Given the description of an element on the screen output the (x, y) to click on. 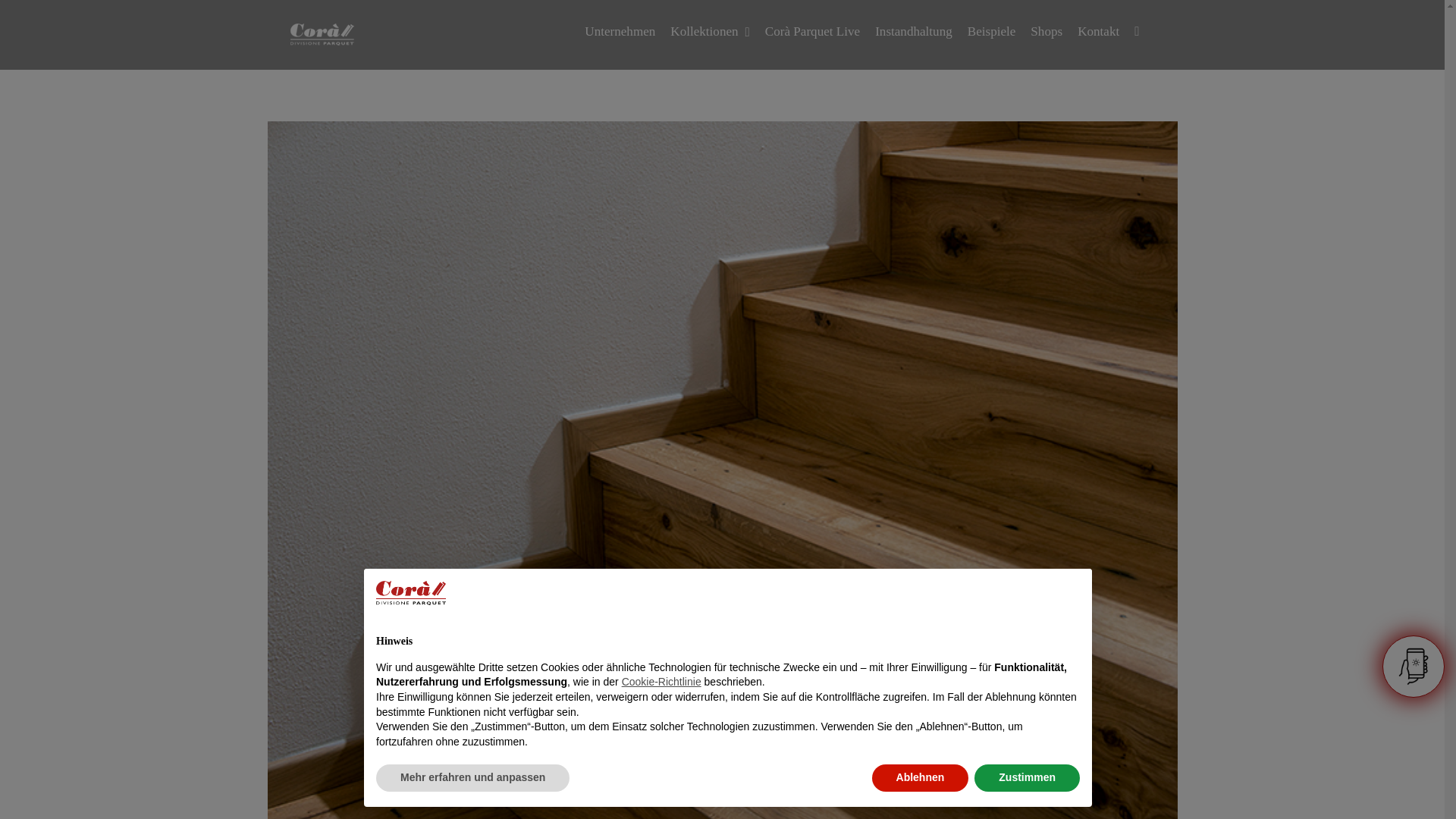
Kollektionen (709, 31)
Instandhaltung (913, 31)
Unternehmen (620, 31)
